Given the description of an element on the screen output the (x, y) to click on. 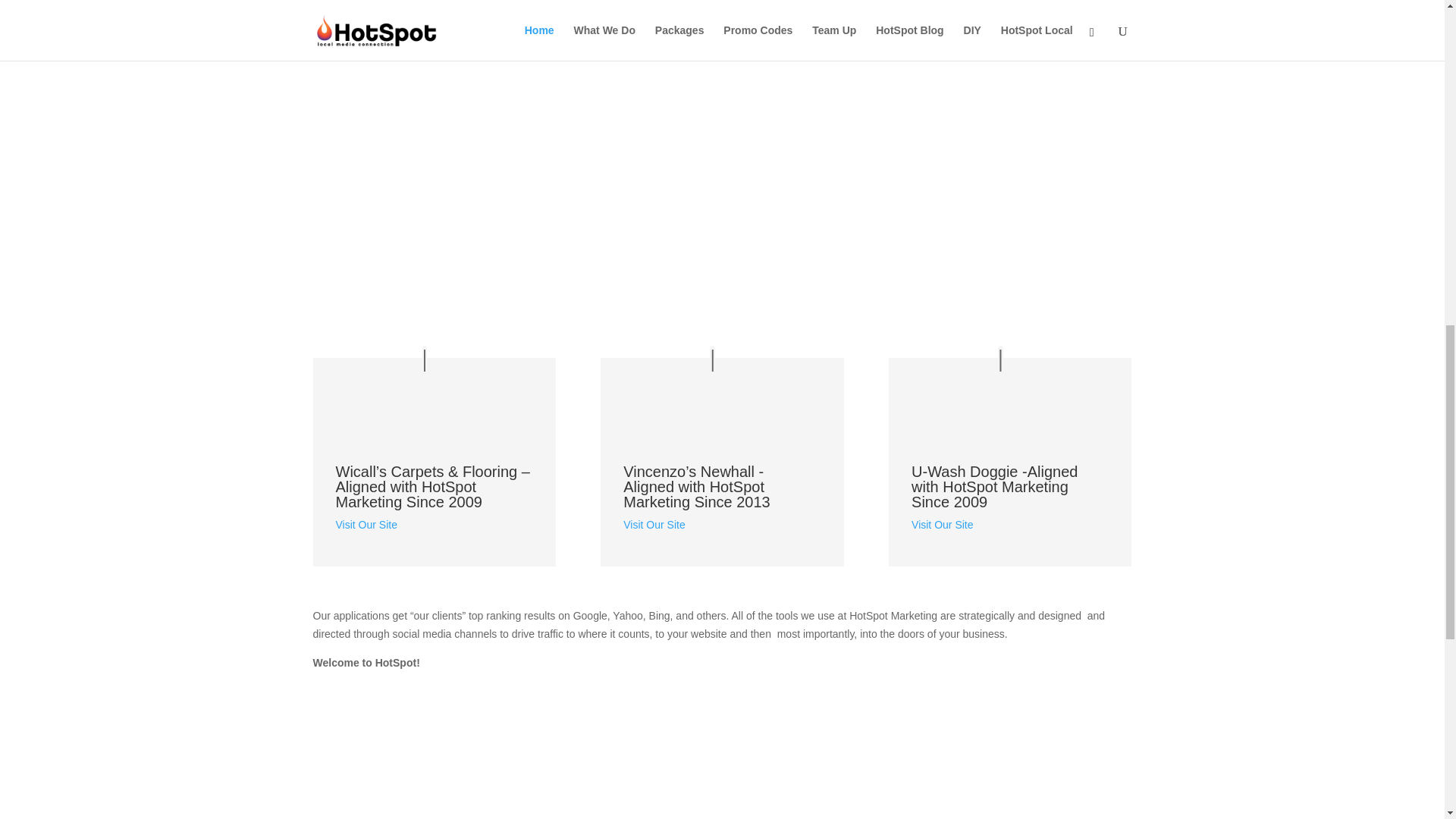
Visit Our Site (941, 524)
Visit Our Site (365, 524)
Visit Our Site (653, 524)
